Given the description of an element on the screen output the (x, y) to click on. 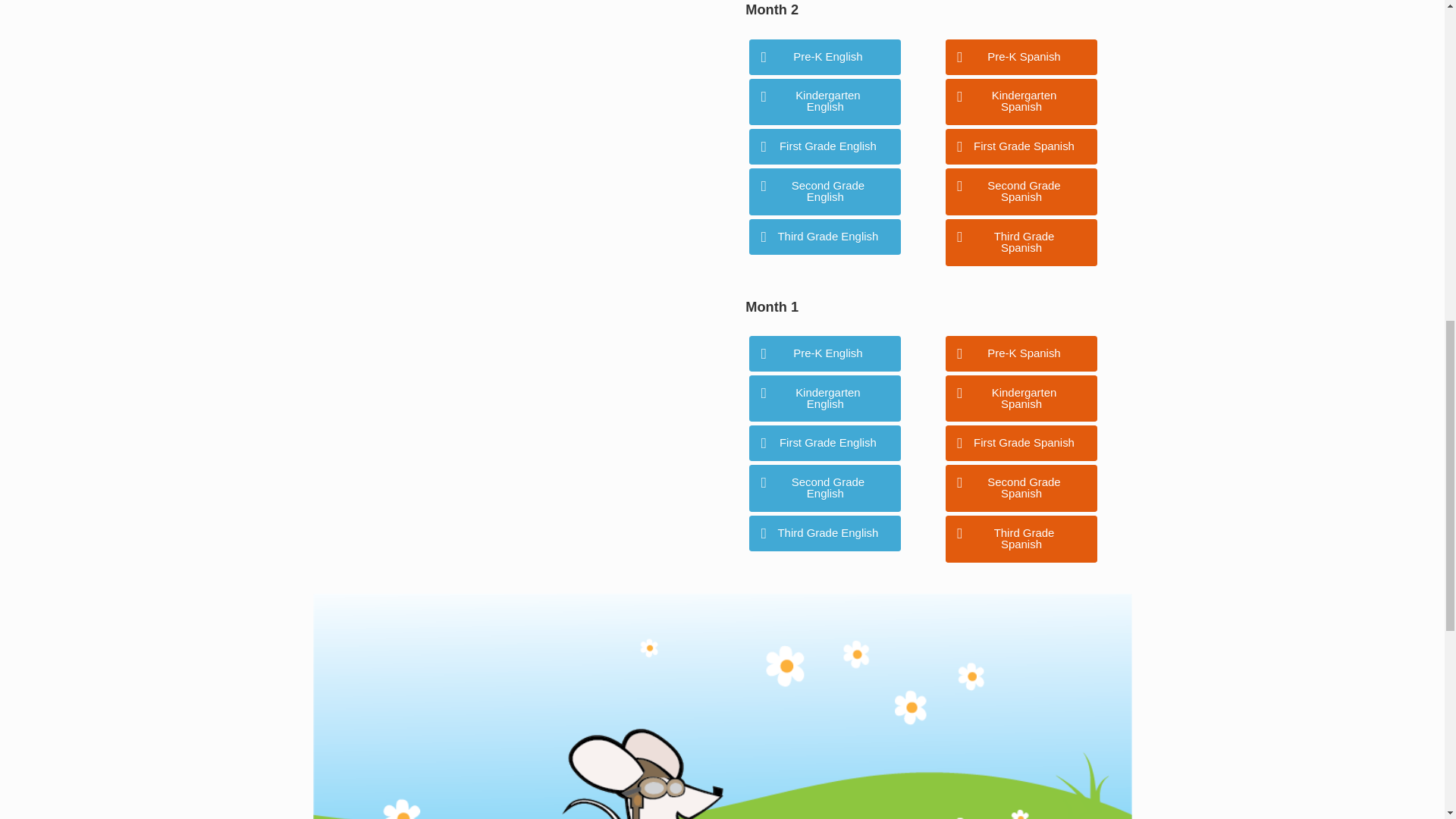
Pre-K English (825, 57)
Pre-K Spanish (1020, 57)
First Grade English (825, 146)
Second Grade English (825, 191)
Kindergarten Spanish (1020, 102)
First Grade Spanish (1020, 146)
Third Grade English (825, 236)
Kindergarten English (825, 102)
Third Grade Spanish (1020, 242)
Second Grade Spanish (1020, 191)
